Given the description of an element on the screen output the (x, y) to click on. 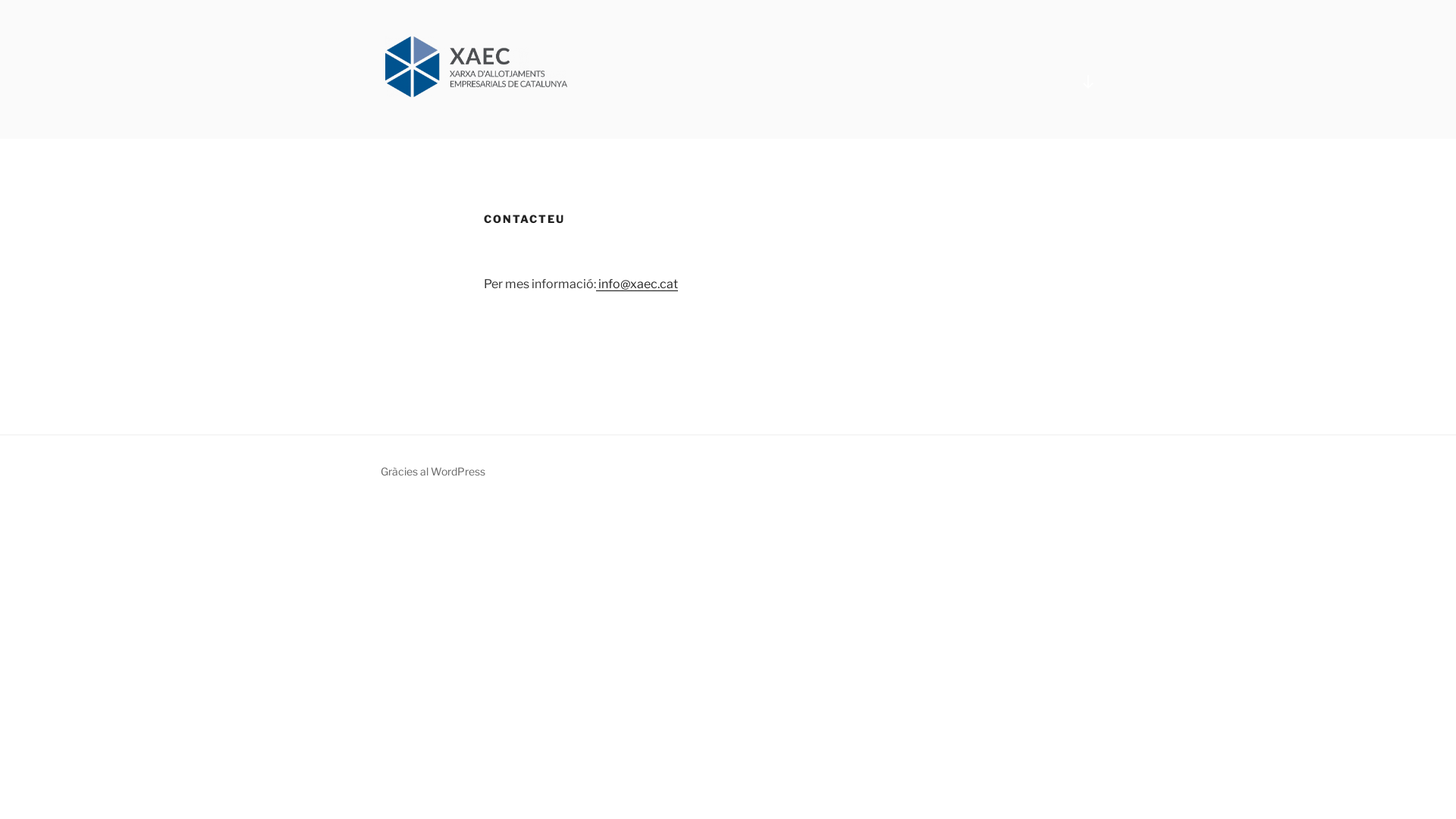
XAEC Element type: text (428, 118)
info@xaec.cat Element type: text (636, 283)
